Given the description of an element on the screen output the (x, y) to click on. 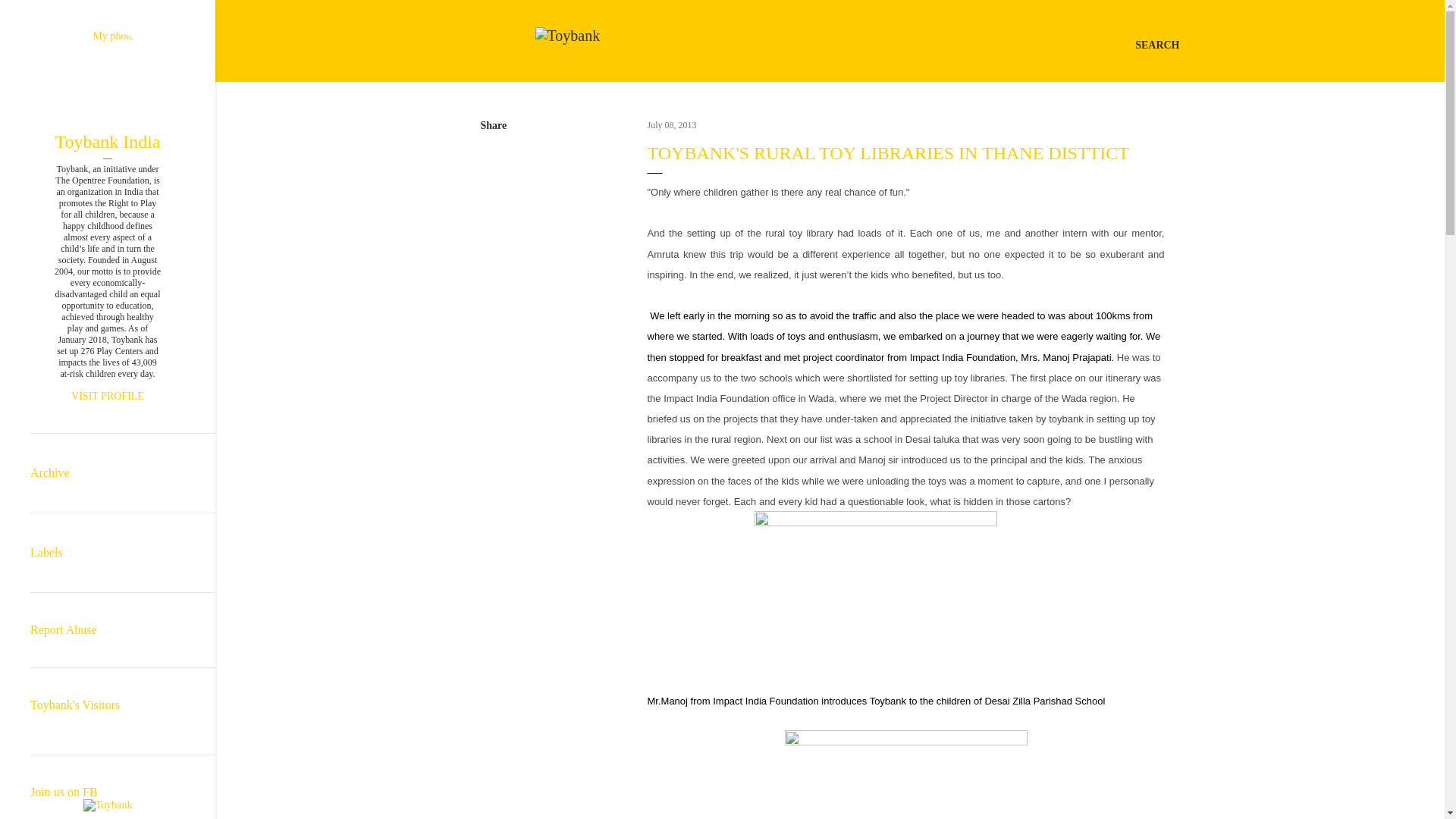
July 08, 2013 (672, 124)
VISIT PROFILE (107, 396)
Share (493, 125)
Toybank India (107, 141)
permanent link (672, 124)
SEARCH (1157, 45)
